Given the description of an element on the screen output the (x, y) to click on. 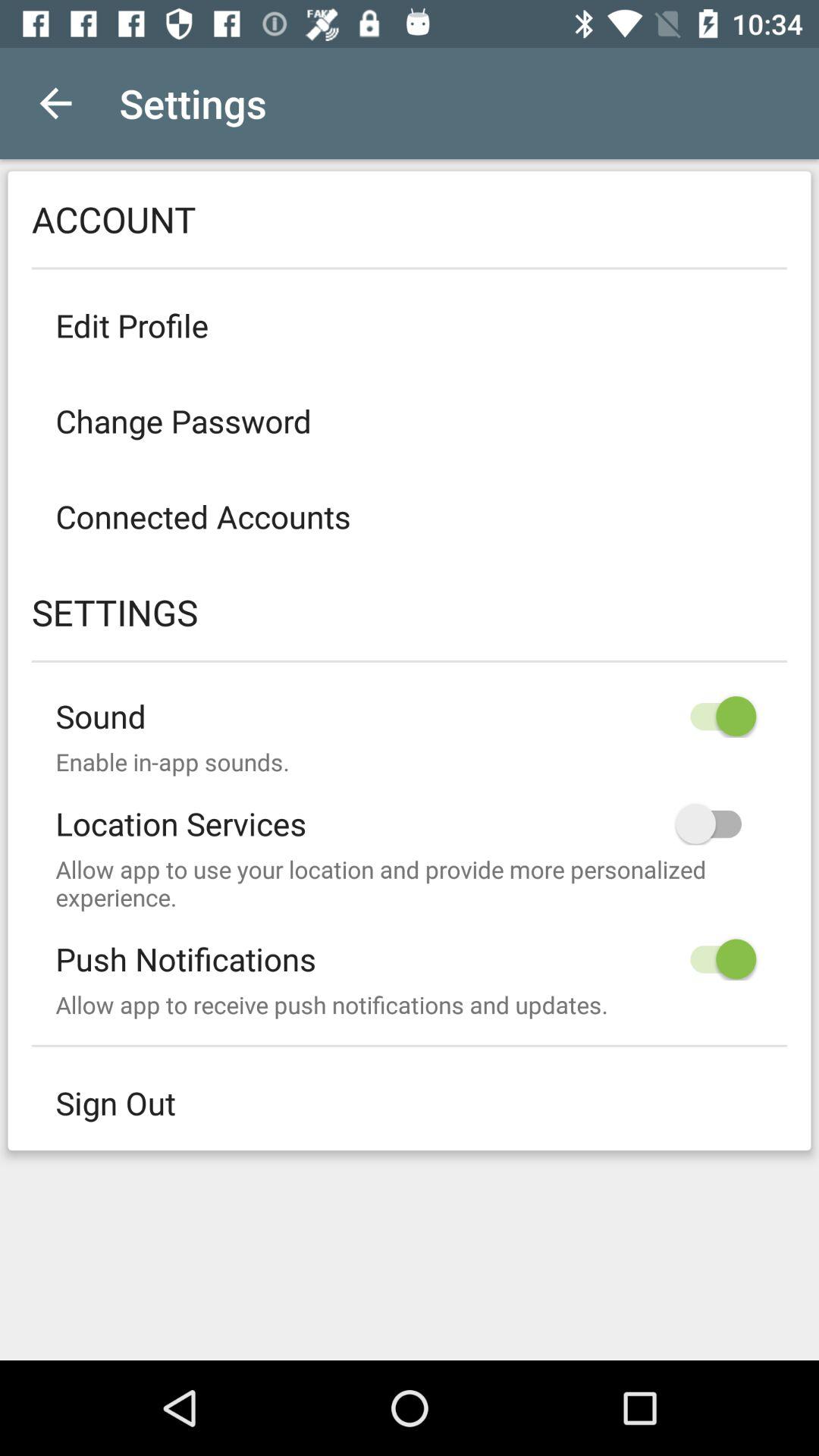
turn off sound item (409, 703)
